Given the description of an element on the screen output the (x, y) to click on. 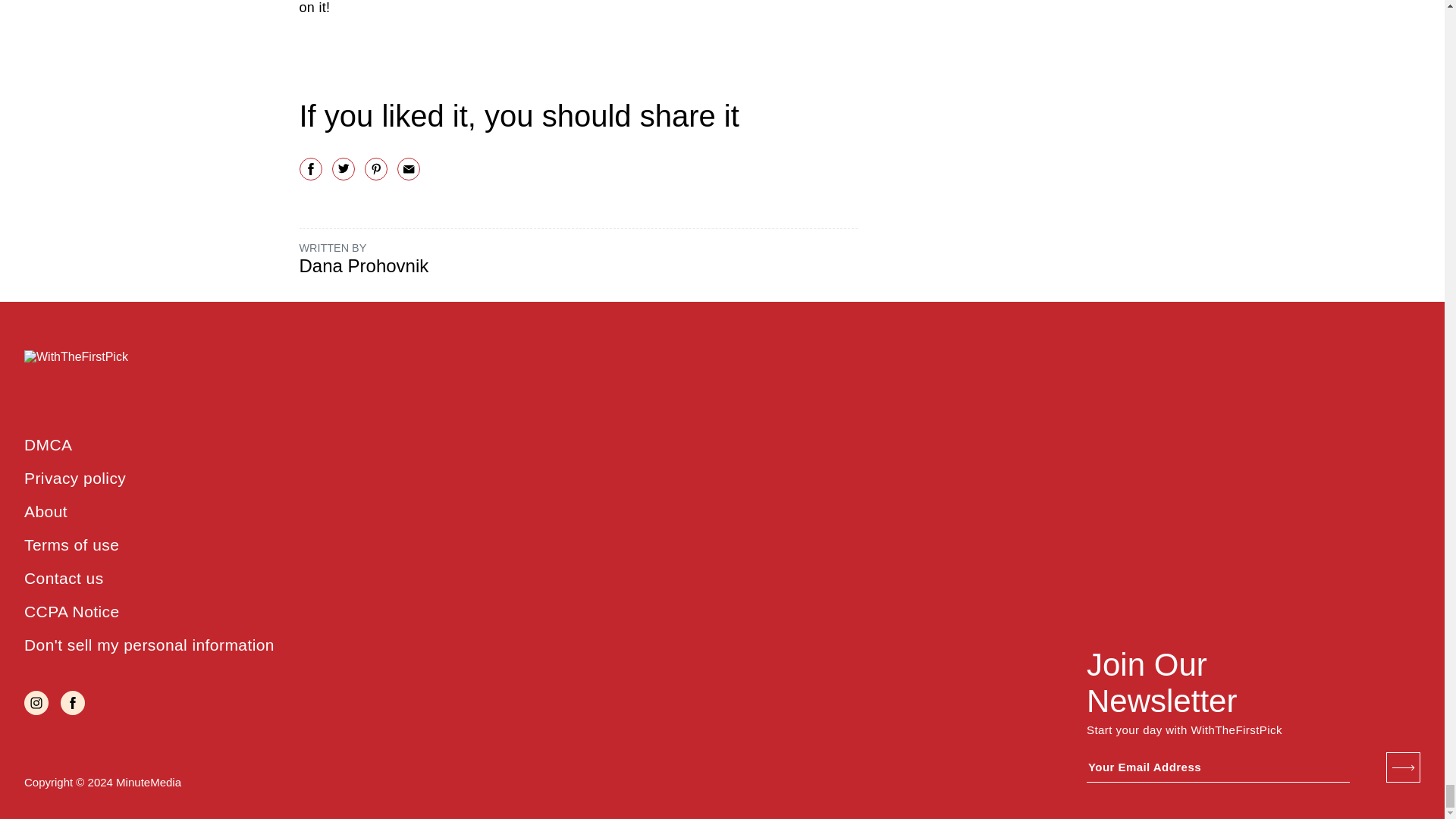
Share on Facebook (309, 168)
Share on Twitter (343, 168)
Our Instagram page (36, 702)
Share on Email (408, 168)
Our Facebook page (72, 702)
Share on Pinterest (375, 168)
